Given the description of an element on the screen output the (x, y) to click on. 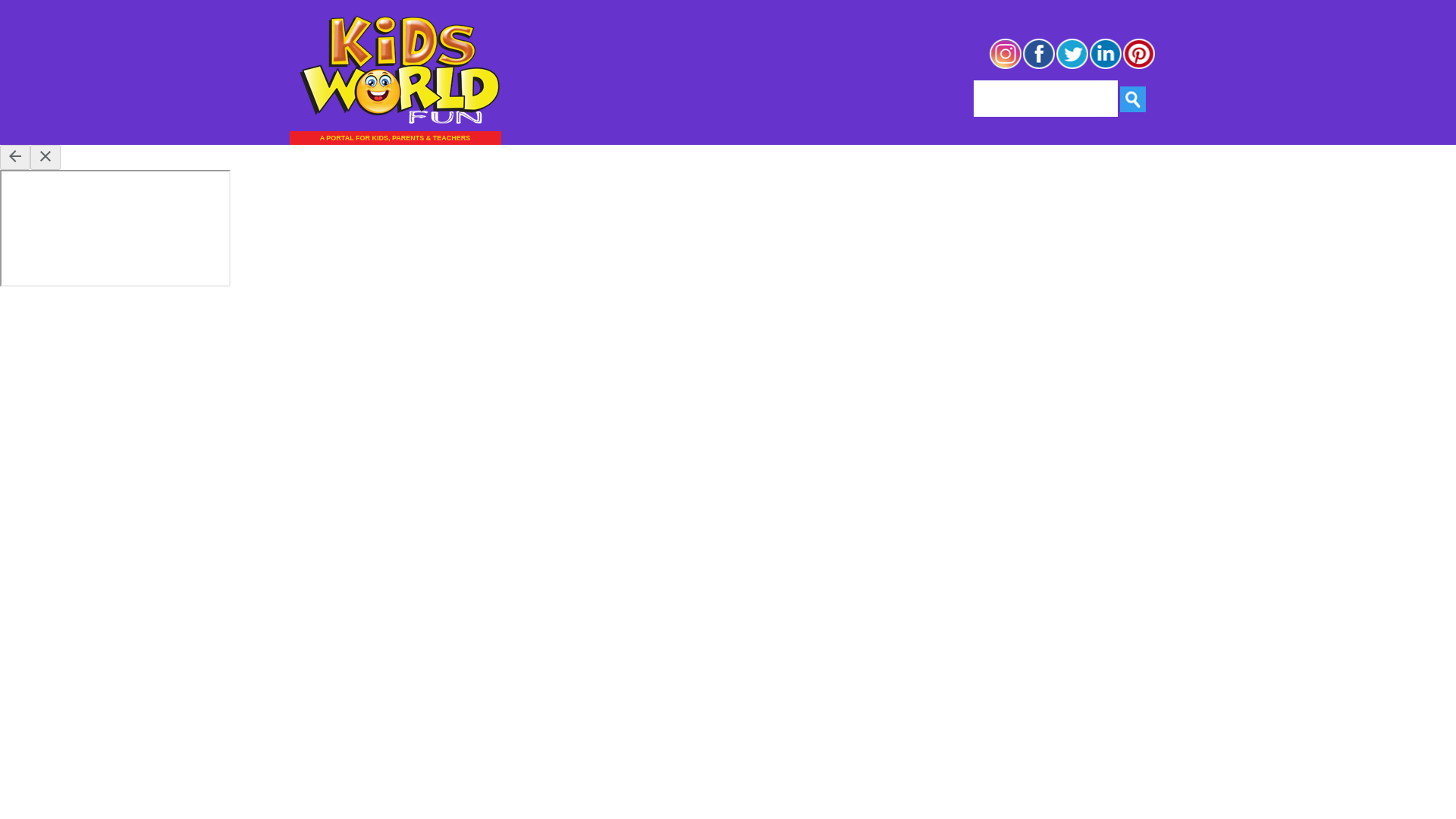
Follow Us On Twitter (1072, 66)
Search (1132, 99)
Follow Us On Instagram (1005, 66)
Follow Us On Facebook (1038, 66)
Search (1132, 99)
Follow Us On LinkedIn (1105, 66)
Follow Us On Pinterest (1139, 66)
